Given the description of an element on the screen output the (x, y) to click on. 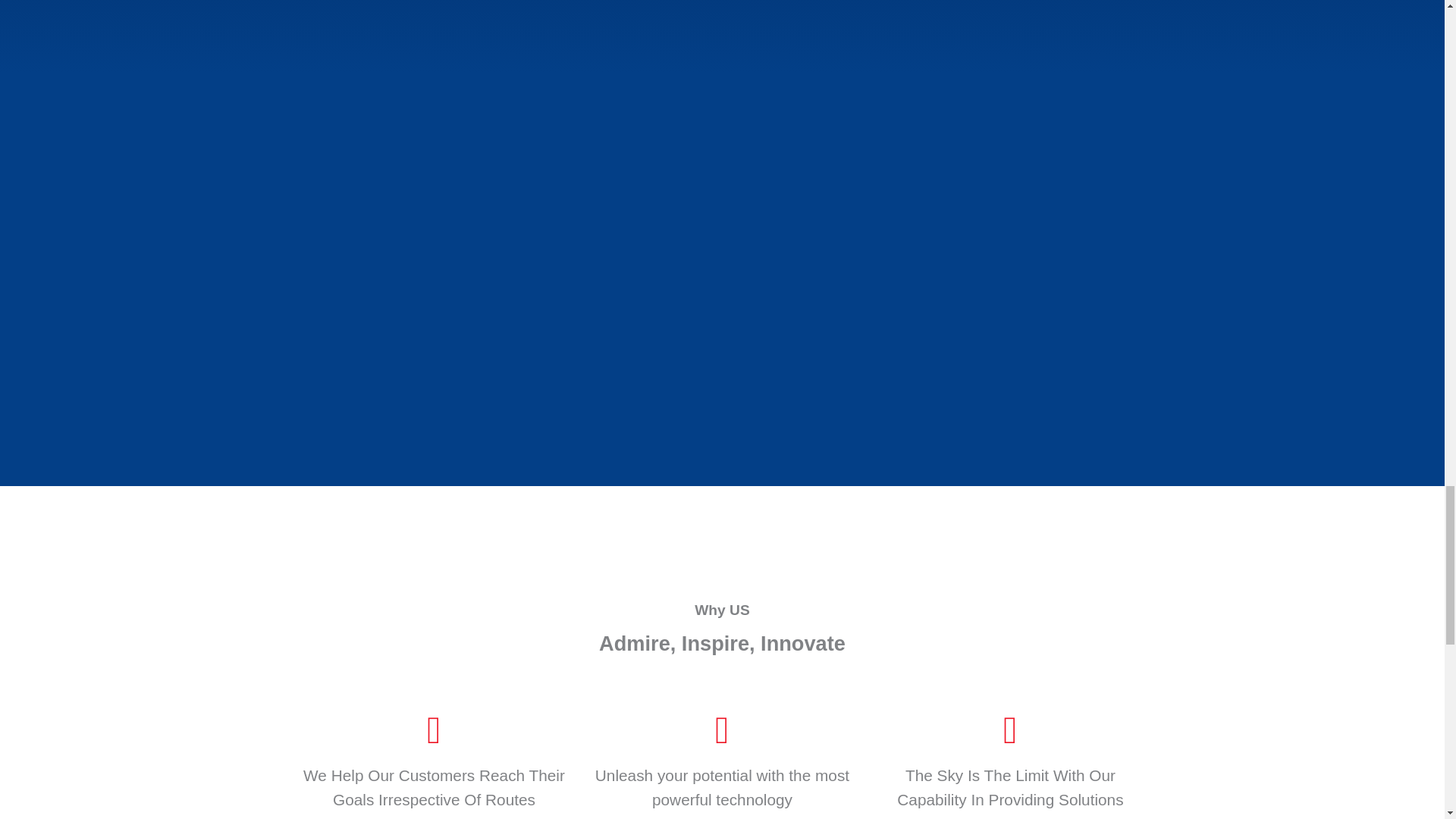
Unleash your potential with the most powerful technology (721, 786)
